Given the description of an element on the screen output the (x, y) to click on. 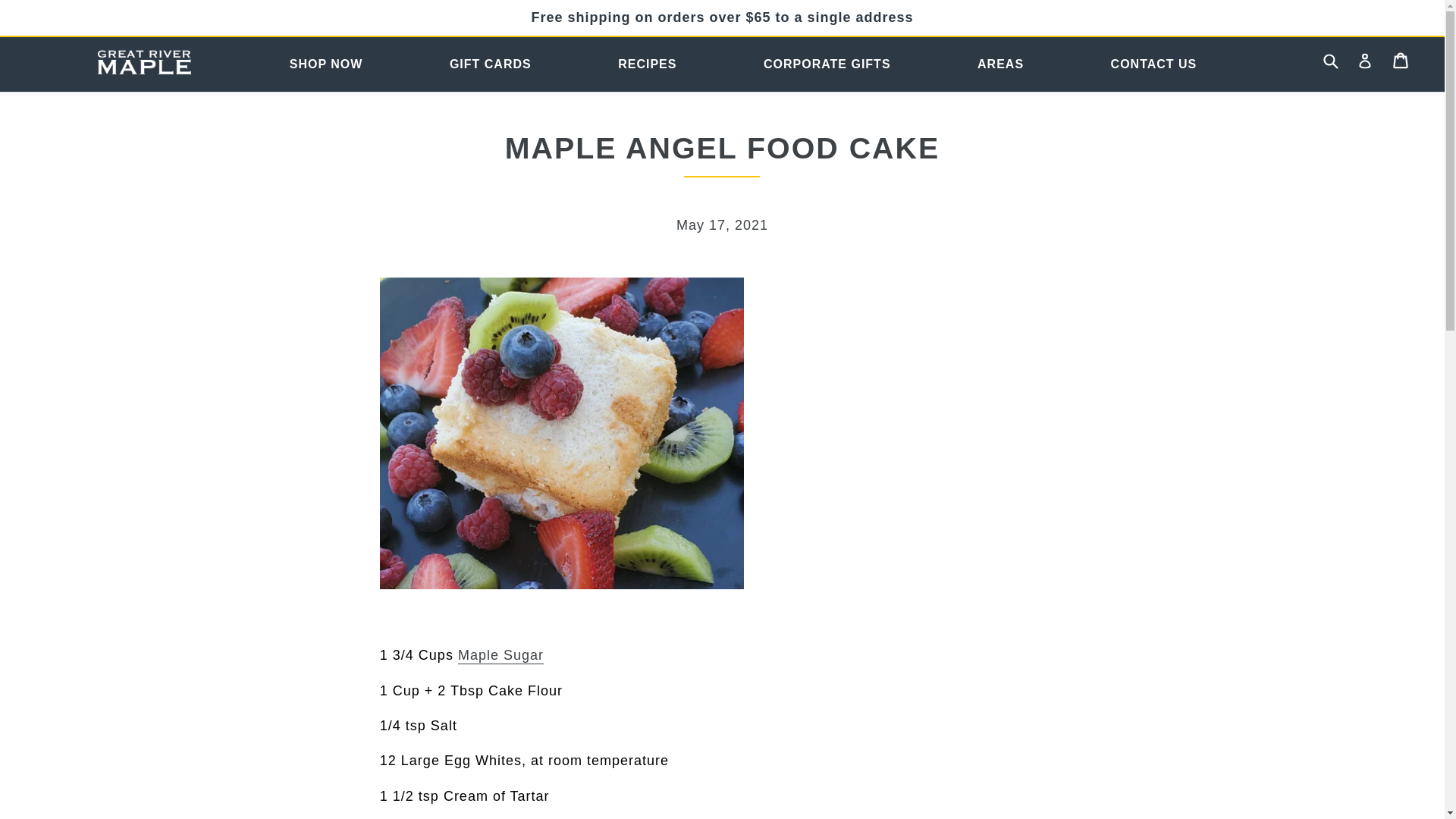
HOME (143, 64)
Maple Sugar (500, 655)
GIFT CARDS (490, 65)
RECIPES (647, 65)
SHOP NOW (325, 65)
Maple Sugar (500, 655)
CORPORATE GIFTS (826, 65)
CONTACT US (1153, 65)
